Given the description of an element on the screen output the (x, y) to click on. 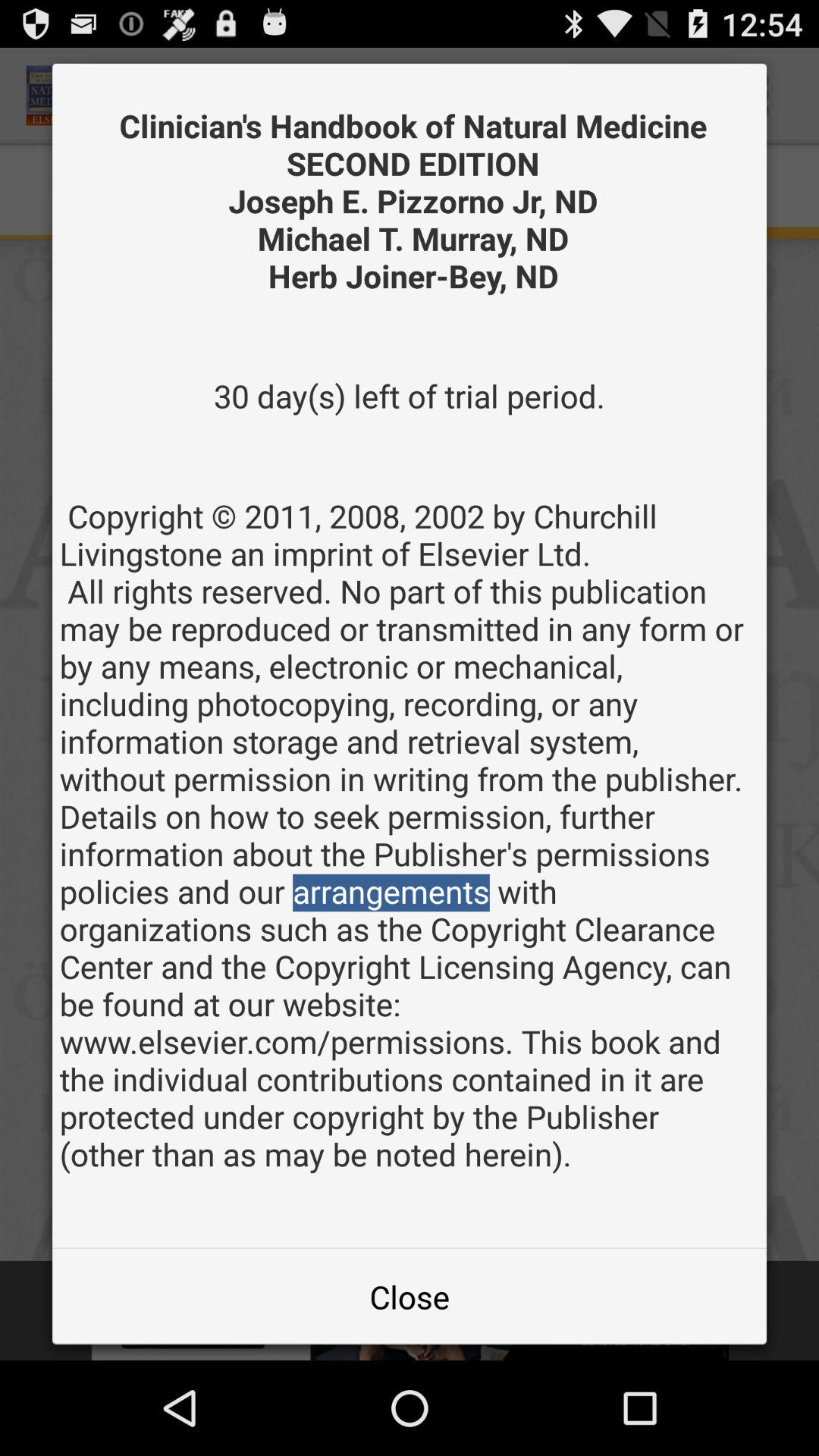
flip until close button (409, 1296)
